Given the description of an element on the screen output the (x, y) to click on. 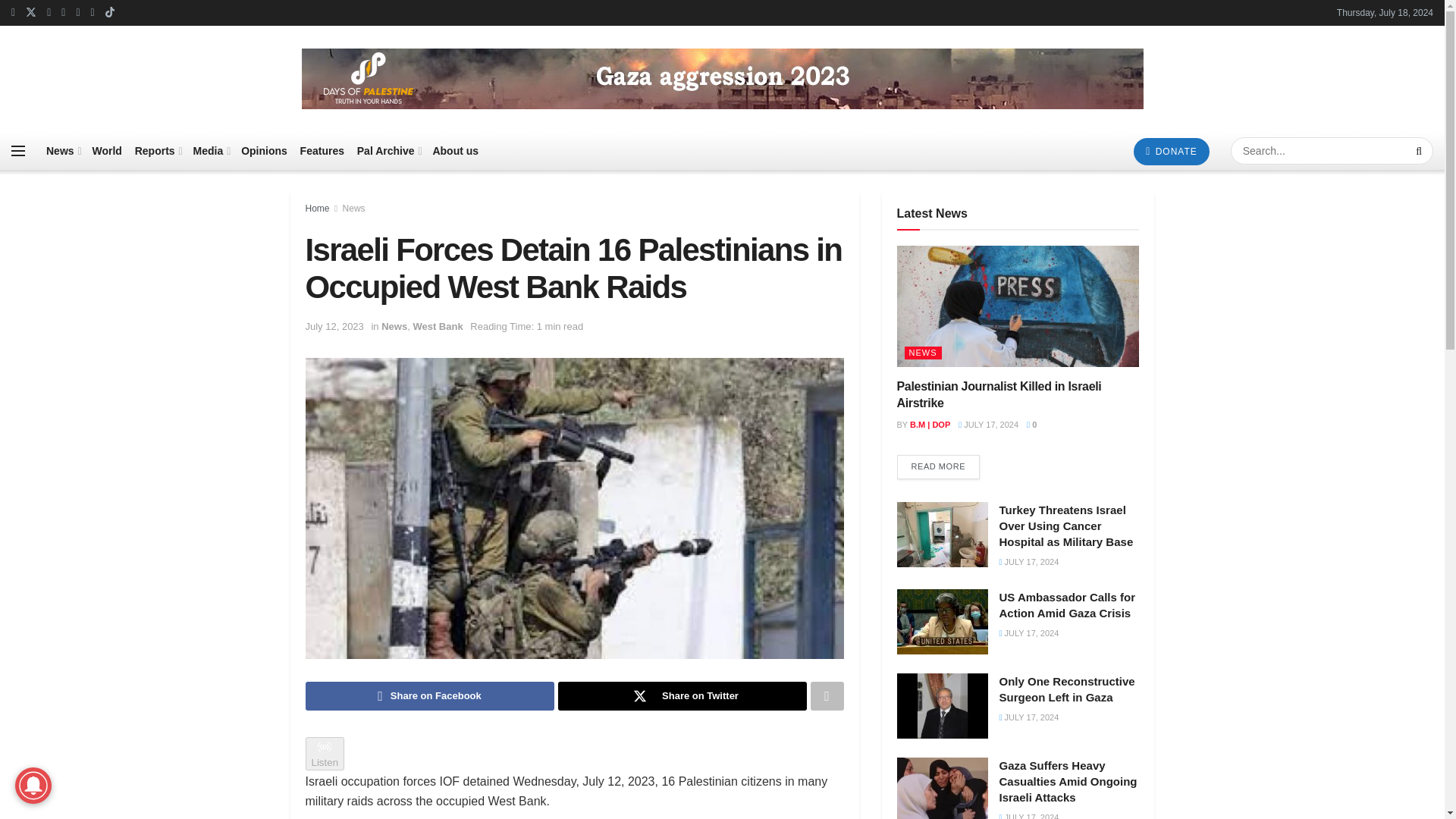
Gaza Suffers Heavy Casualties Amid Ongoing Israeli Attacks 7 (941, 788)
Pal Archive (388, 150)
Opinions (263, 150)
US Ambassador Calls for Action Amid Gaza Crisis 5 (941, 621)
Features (321, 150)
Reports (157, 150)
Palestinian Journalist Killed in Israeli Airstrike 3 (1017, 305)
Media (210, 150)
Only One Reconstructive Surgeon Left in Gaza 6 (941, 705)
